Given the description of an element on the screen output the (x, y) to click on. 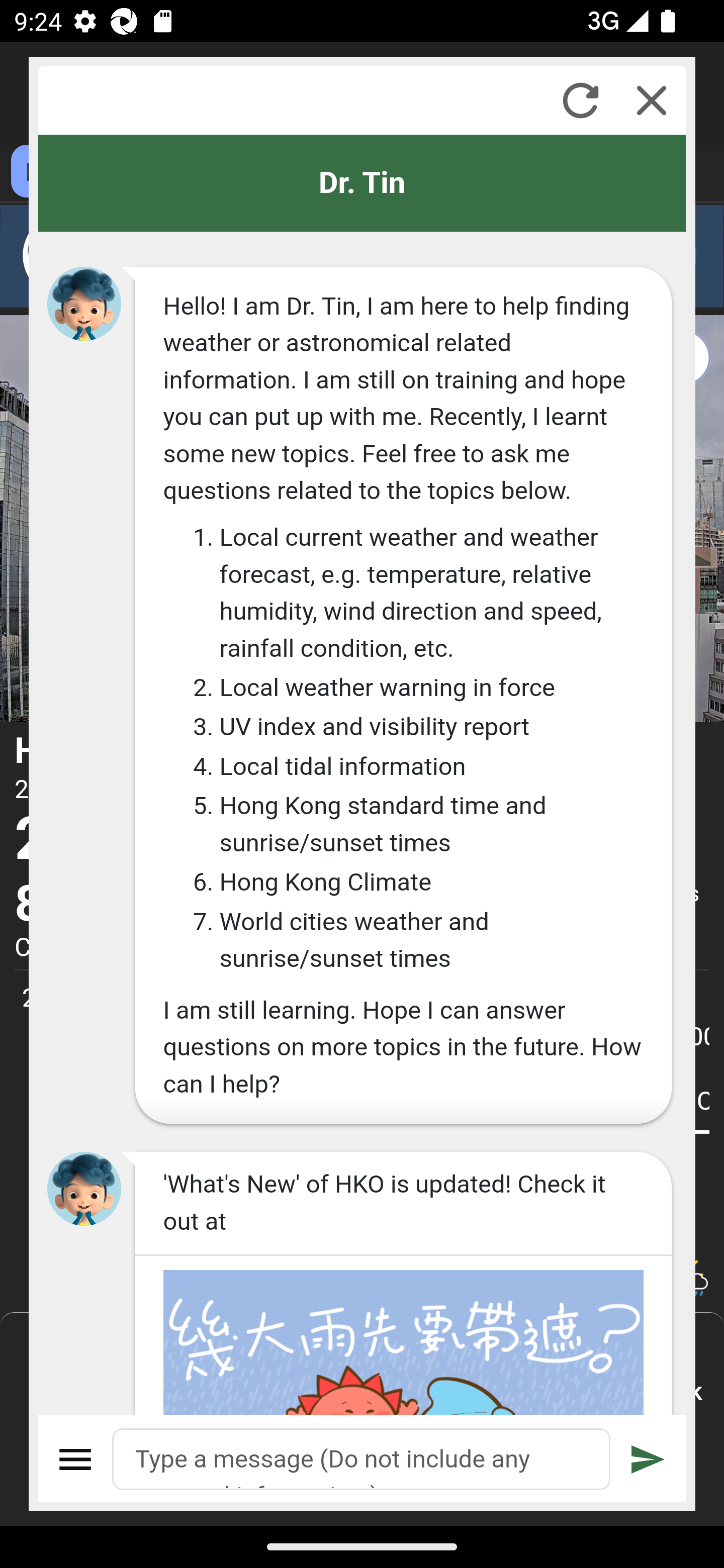
Refresh (580, 100)
Close (651, 100)
Menu (75, 1458)
Submit (648, 1458)
